Given the description of an element on the screen output the (x, y) to click on. 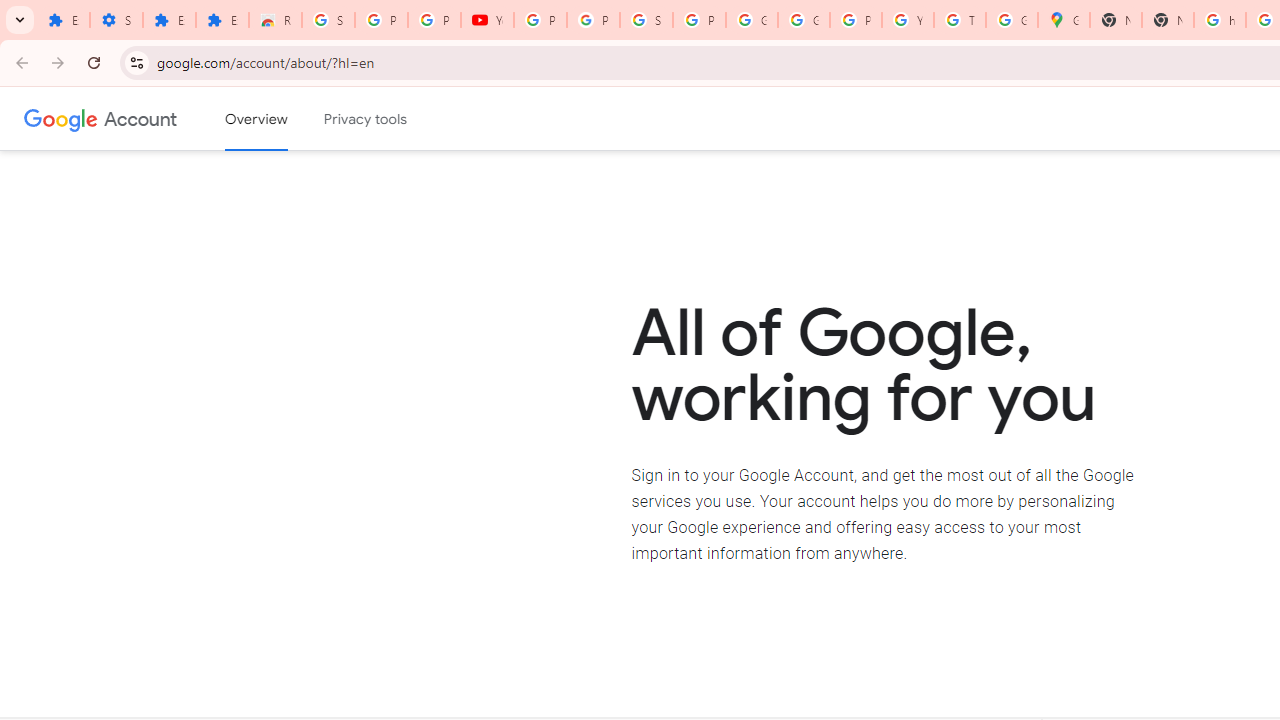
Skip to Content (285, 115)
YouTube (487, 20)
Extensions (169, 20)
Extensions (222, 20)
New Tab (1167, 20)
Sign in - Google Accounts (646, 20)
https://scholar.google.com/ (1219, 20)
New Tab (1115, 20)
